Given the description of an element on the screen output the (x, y) to click on. 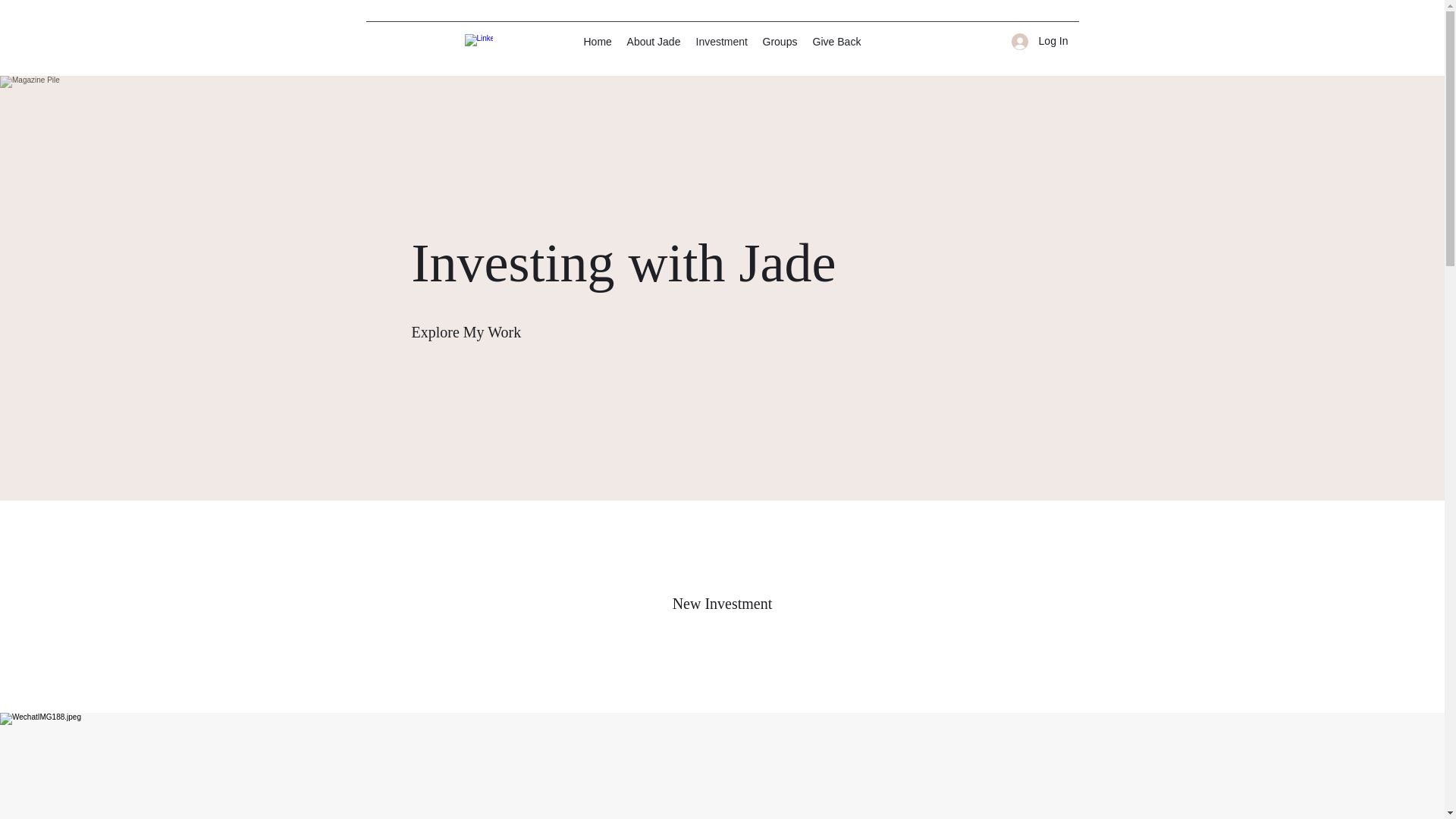
About Jade (652, 41)
Investment (721, 41)
Home (598, 41)
Log In (1039, 41)
Give Back (837, 41)
Groups (780, 41)
